Given the description of an element on the screen output the (x, y) to click on. 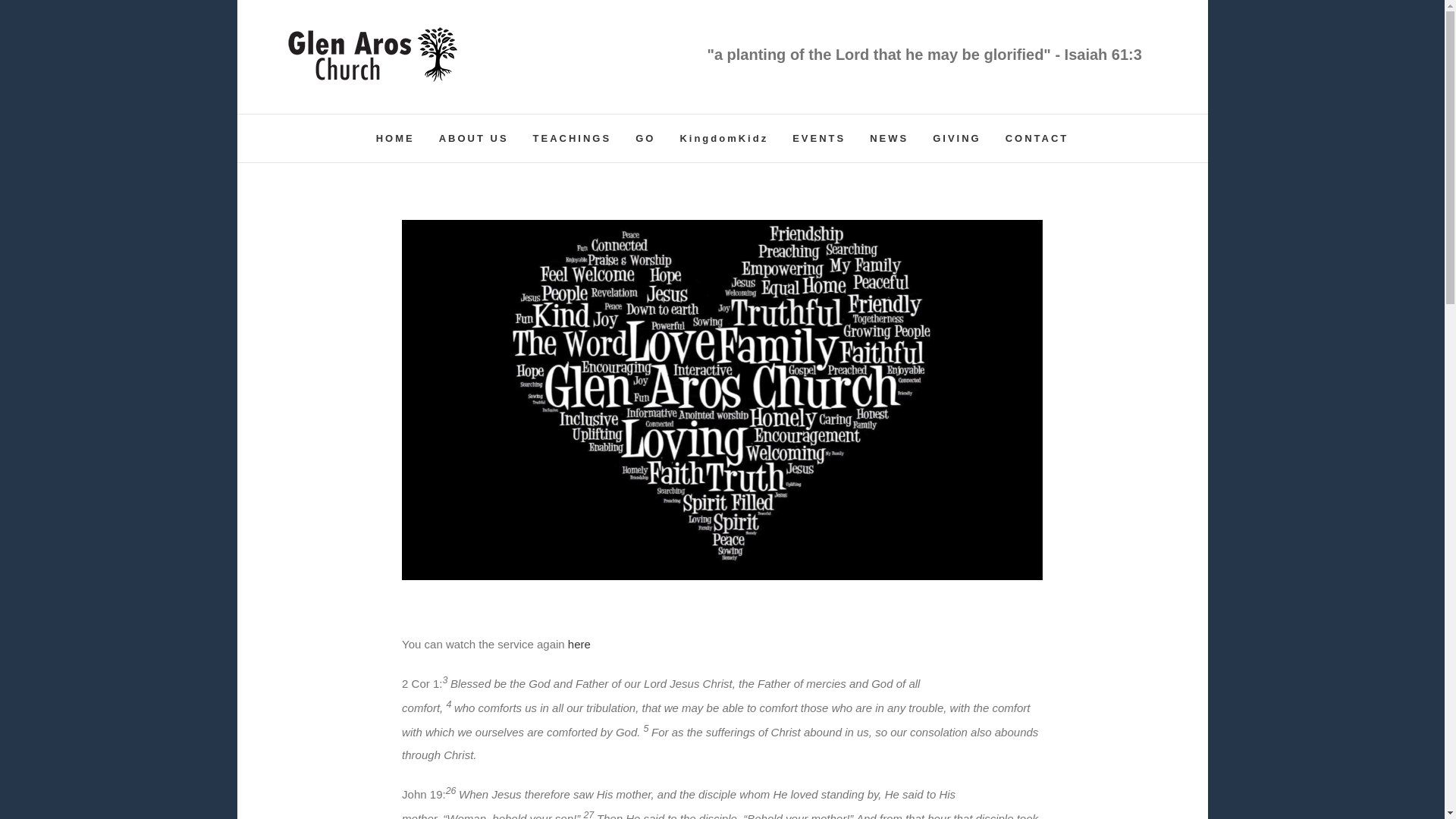
EVENTS (818, 138)
here (579, 644)
TEACHINGS (571, 138)
GIVING (957, 138)
ABOUT US (473, 138)
CONTACT (1037, 138)
KingdomKidz (723, 138)
